Given the description of an element on the screen output the (x, y) to click on. 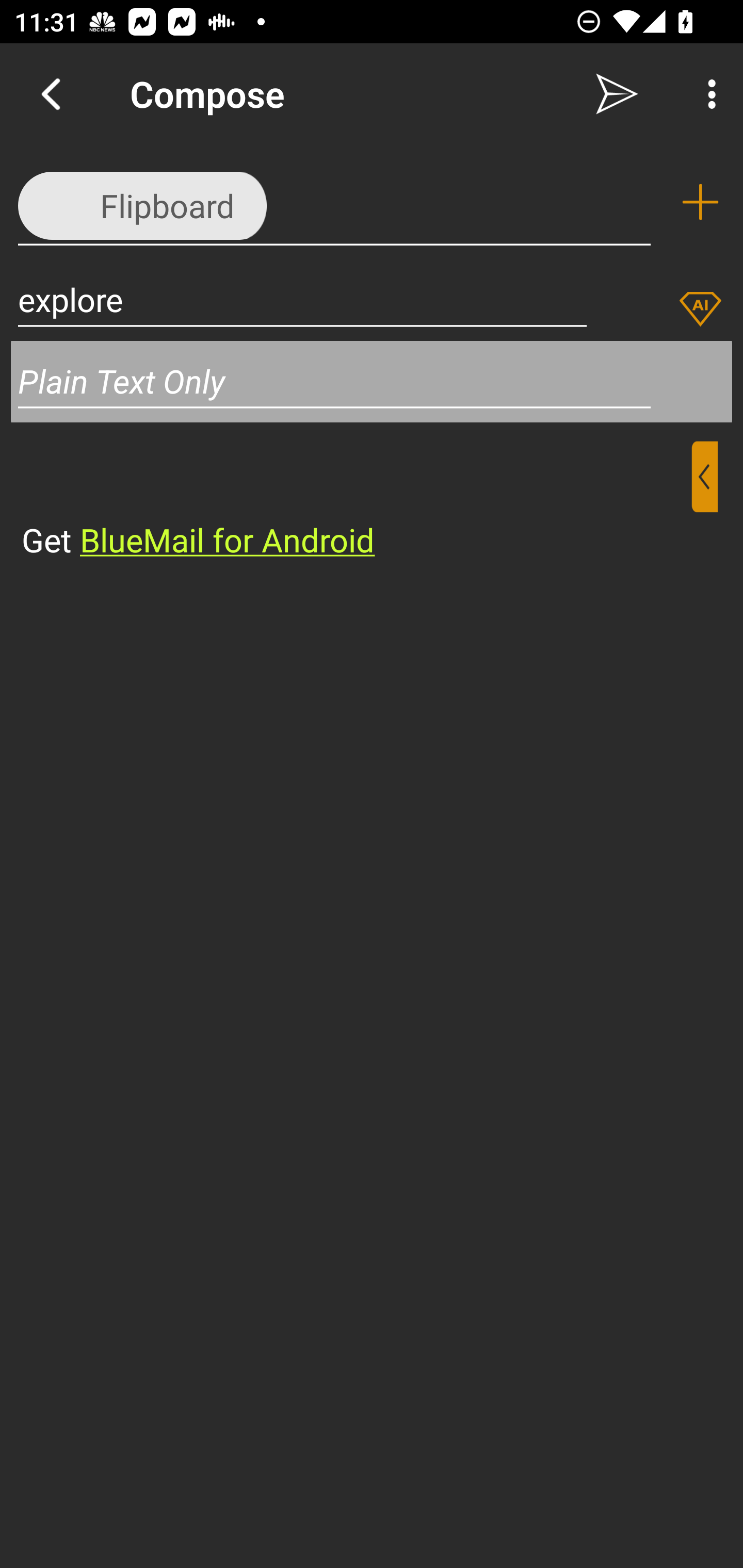
Navigate up (50, 93)
Send (616, 93)
More Options (706, 93)
Flipboard <editorialstaff@flipboard.com>,  (334, 201)
Add recipient (To) (699, 201)
explore (302, 299)
Plain Text Only (371, 380)


⁣Get BlueMail for Android ​ (355, 501)
